Given the description of an element on the screen output the (x, y) to click on. 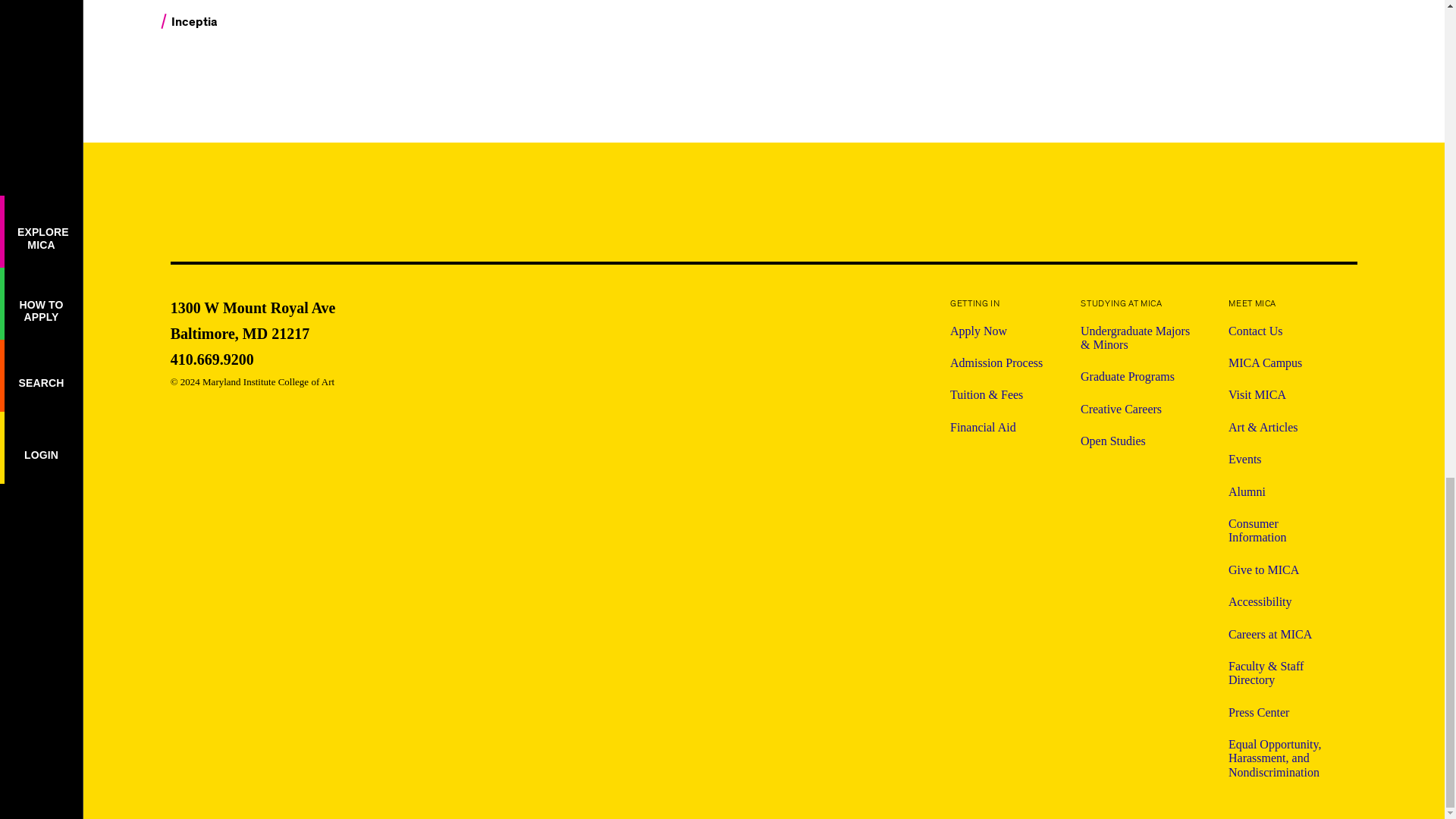
Twitter (1302, 210)
MICA (272, 197)
Financial Literacy (270, 2)
Facebook (253, 318)
Apply Now (1261, 209)
Instagram (996, 331)
410.669.9200 (1142, 209)
YouTube (253, 359)
Inceptia (1183, 211)
